Given the description of an element on the screen output the (x, y) to click on. 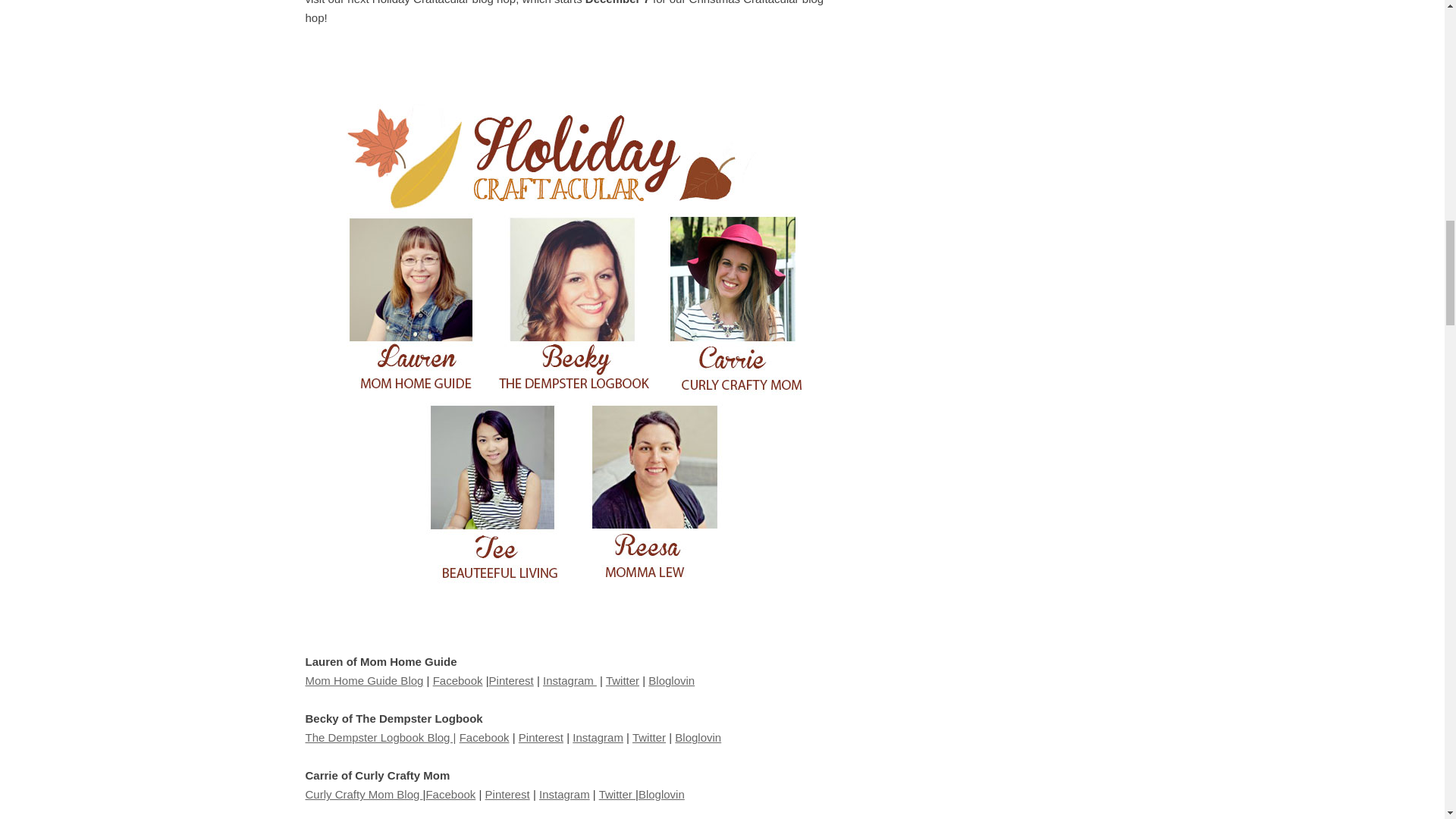
Mom Home Guide Blog (363, 680)
Pinterest (540, 737)
Facebook (450, 793)
Instagram (563, 793)
Twitter (648, 737)
Instagram (597, 737)
Twitter (622, 680)
Curly Crafty Mom Blog  (363, 793)
Facebook (457, 680)
Bloglovin (697, 737)
Facebook (484, 737)
Bloglovin (670, 680)
Twitter  (616, 793)
Pinterest (511, 680)
Bloglovin (661, 793)
